Given the description of an element on the screen output the (x, y) to click on. 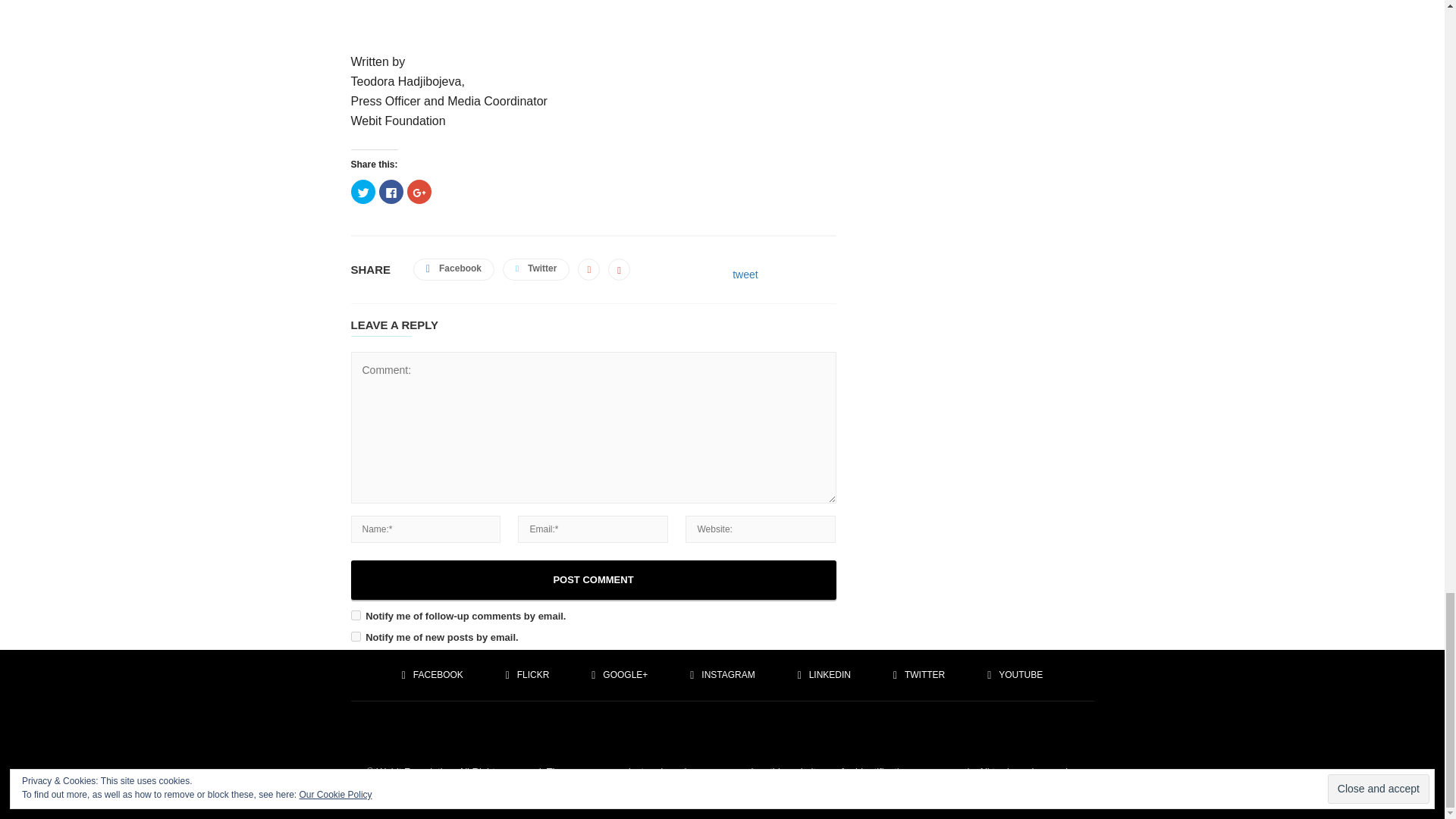
Twitter (535, 269)
subscribe (354, 636)
Post Comment (592, 579)
Flickr (527, 674)
Click to share on Twitter (362, 191)
subscribe (354, 614)
Facebook (432, 674)
Facebook (454, 269)
Click to share on Facebook (390, 191)
